Given the description of an element on the screen output the (x, y) to click on. 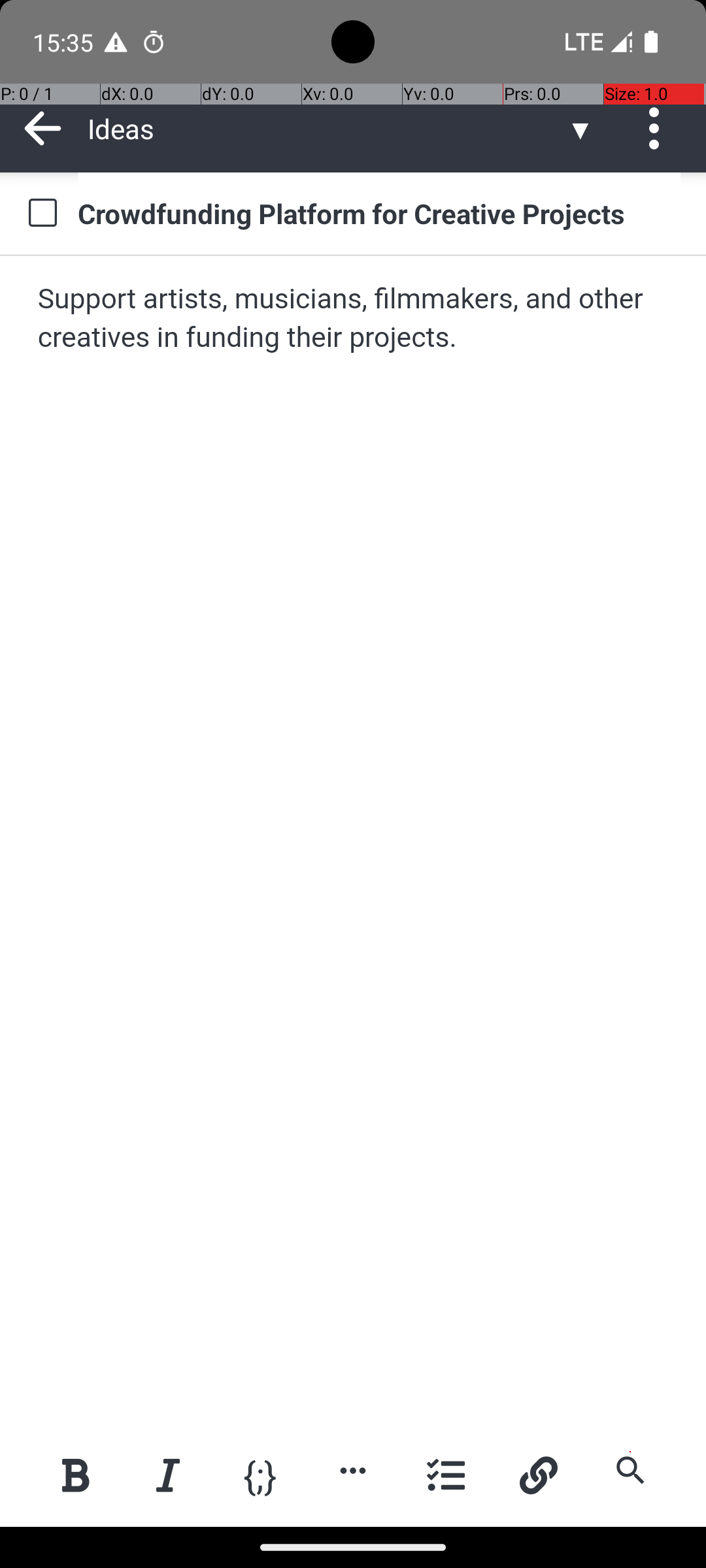
Crowdfunding Platform for Creative Projects Element type: android.widget.EditText (378, 213)
Support artists, musicians, filmmakers, and other creatives in funding their projects. Element type: android.widget.EditText (354, 318)
